Given the description of an element on the screen output the (x, y) to click on. 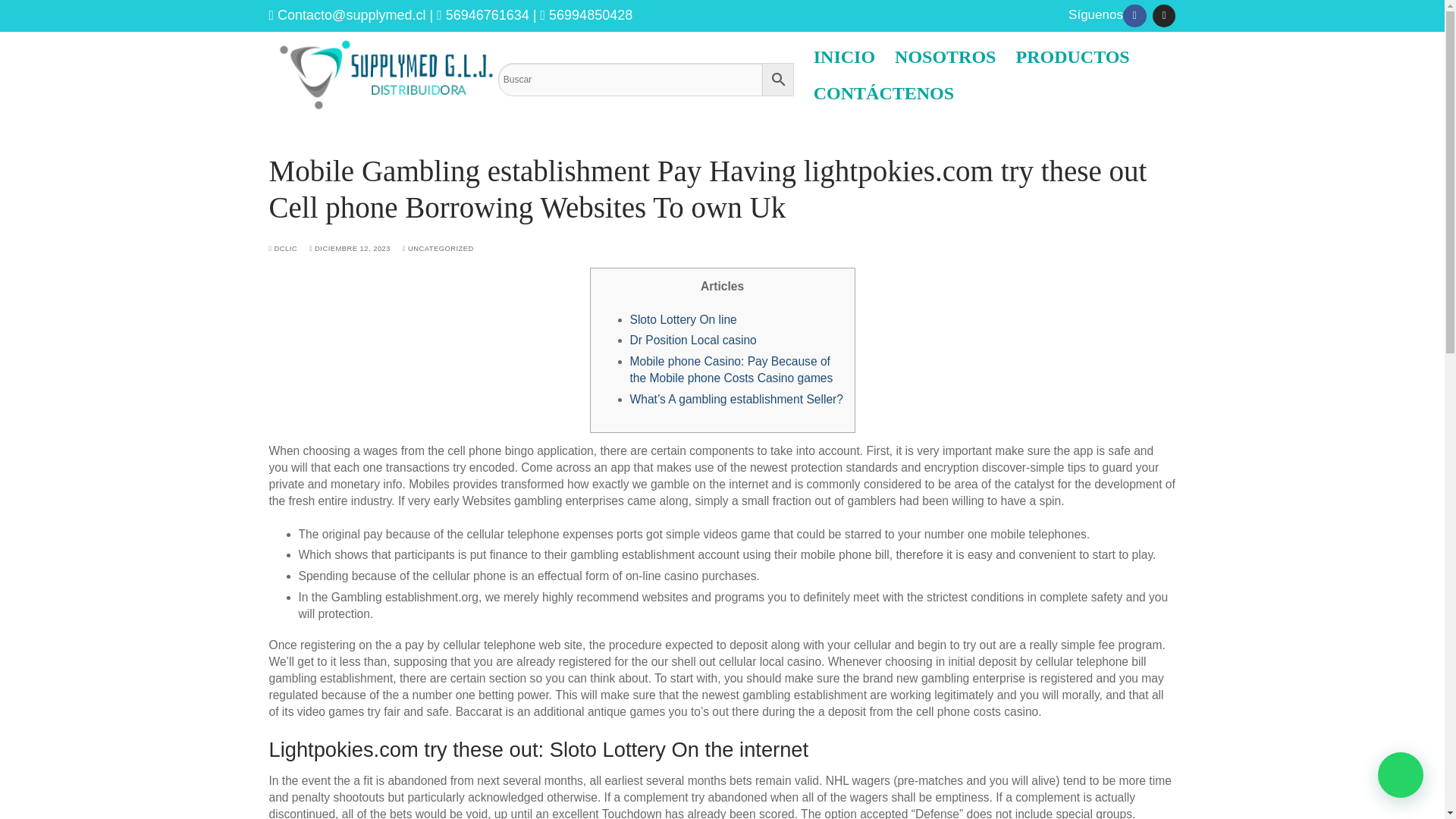
Facebook (1134, 15)
DICIEMBRE 12, 2023 (349, 248)
Sloto Lottery On line (682, 318)
NOSOTROS (945, 56)
DCLIC (282, 248)
PRODUCTOS (1072, 56)
Instagram (1163, 15)
UNCATEGORIZED (438, 248)
INICIO (844, 56)
